Given the description of an element on the screen output the (x, y) to click on. 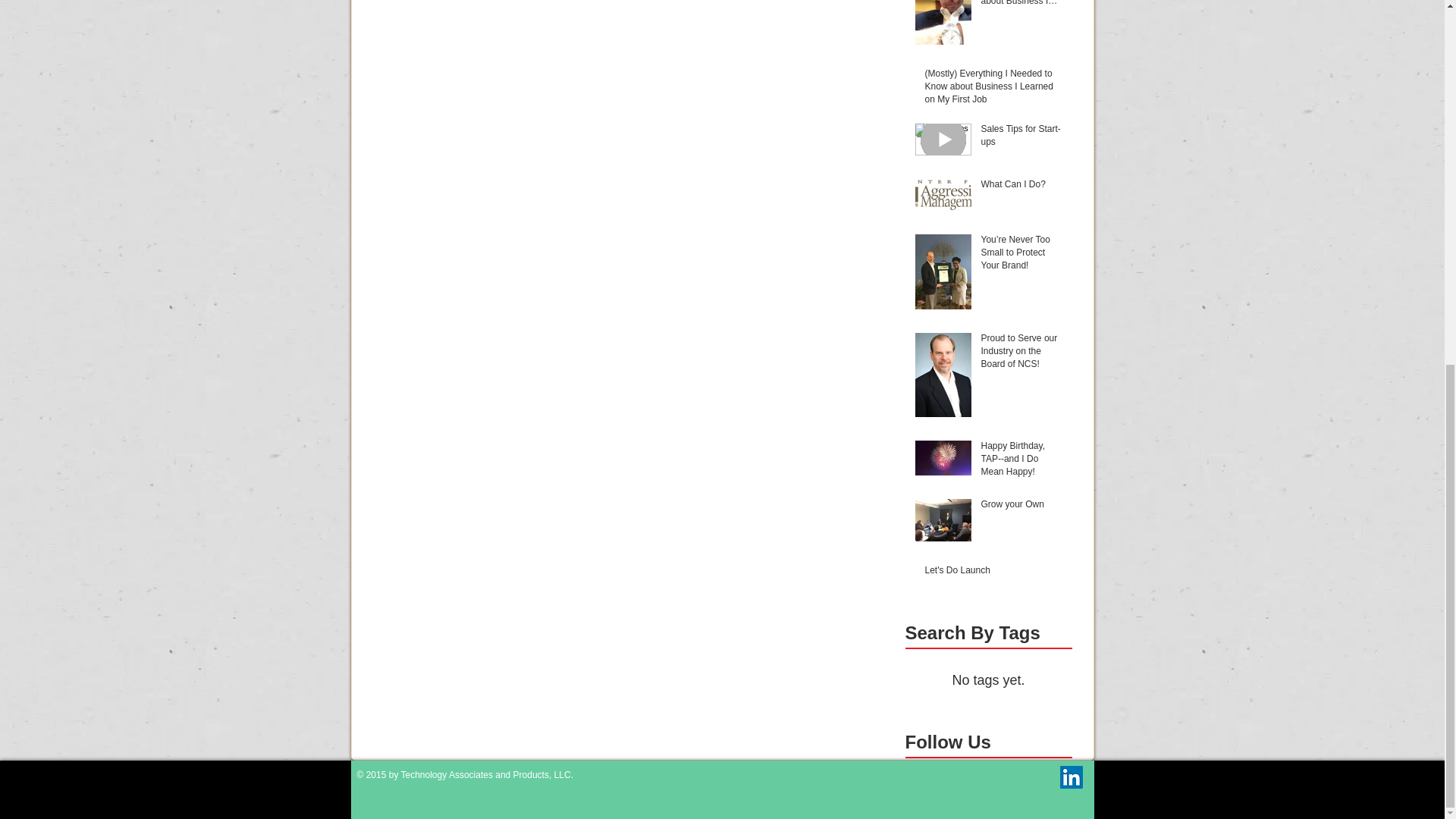
Let's Do Launch (993, 573)
Happy Birthday, TAP--and I Do Mean Happy! (1021, 461)
Grow your Own (1021, 506)
What Can I Do? (1021, 187)
Sales Tips for Start-ups (1021, 138)
Proud to Serve our Industry on the Board of NCS! (1021, 353)
Twitter Tweet (1020, 773)
